Given the description of an element on the screen output the (x, y) to click on. 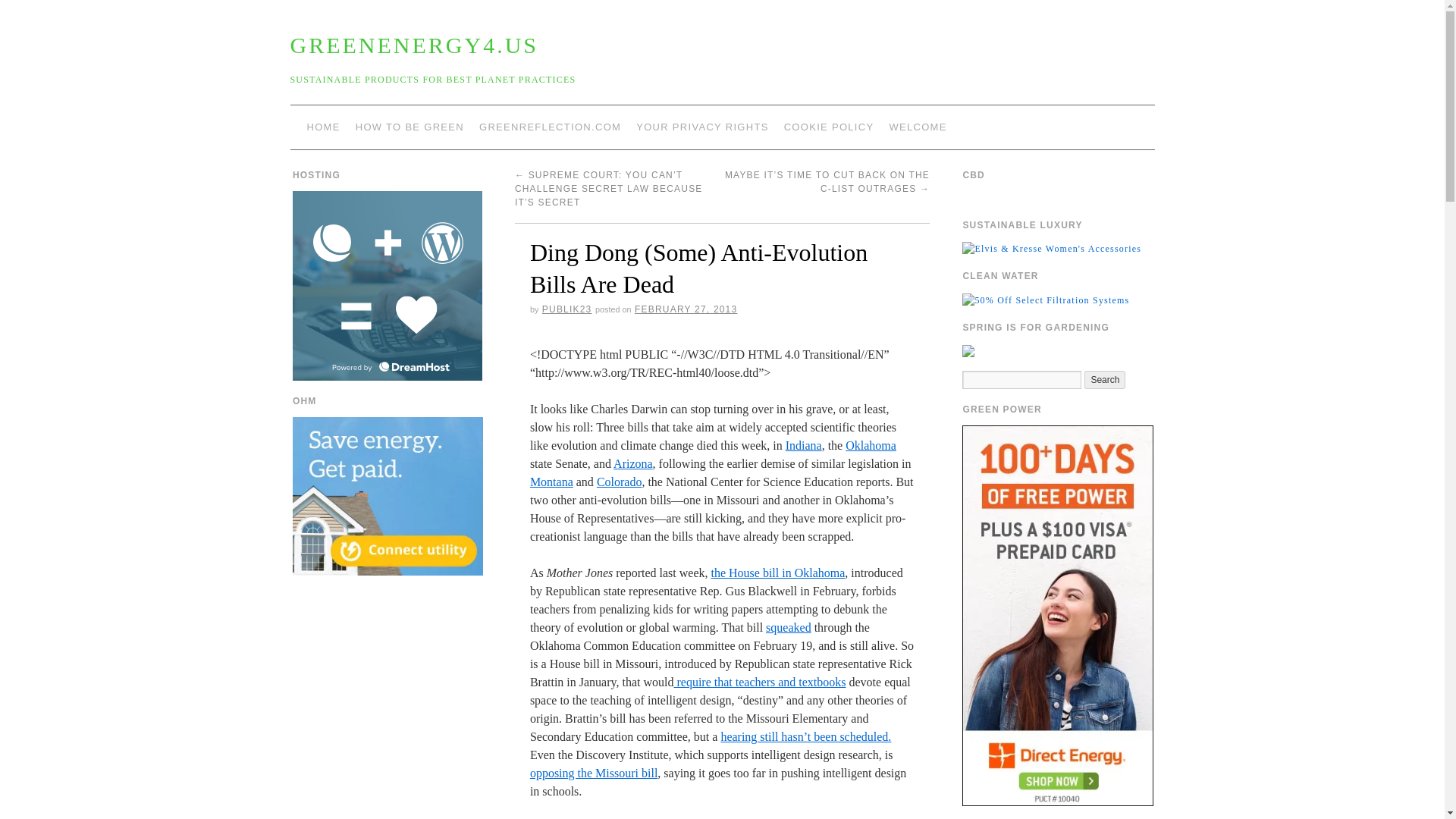
opposing the Missouri bill (593, 772)
HOW TO BE GREEN (409, 127)
Home (916, 127)
Search (1104, 380)
squeaked (787, 626)
the House bill in Oklahoma (777, 572)
GREENENERGY4.US (413, 44)
require that teachers and textbooks (758, 681)
View all posts by publik23 (566, 308)
WELCOME (916, 127)
